Given the description of an element on the screen output the (x, y) to click on. 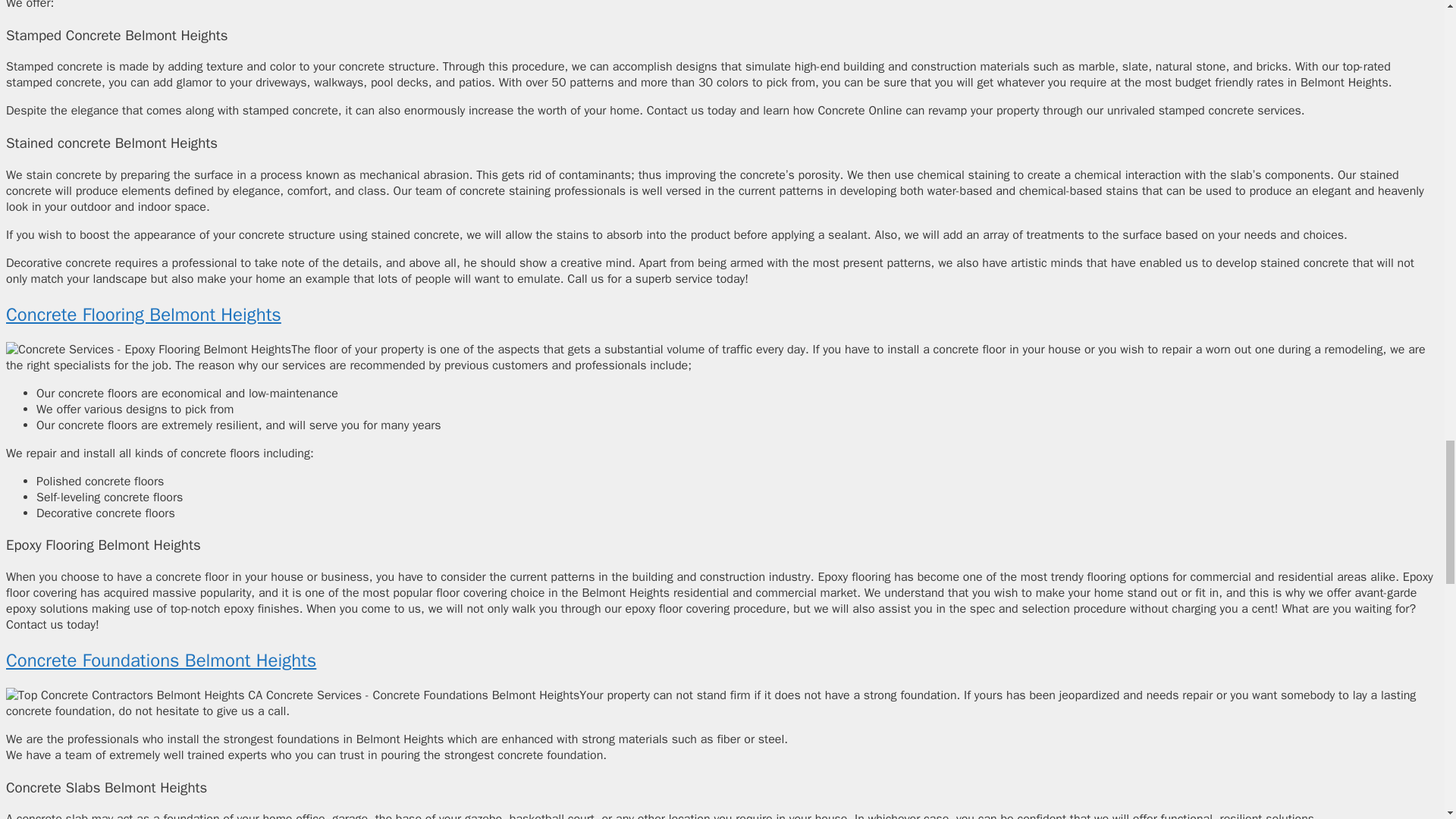
Concrete Flooring Belmont Heights (143, 314)
Concrete Foundations Belmont Heights (160, 660)
